Given the description of an element on the screen output the (x, y) to click on. 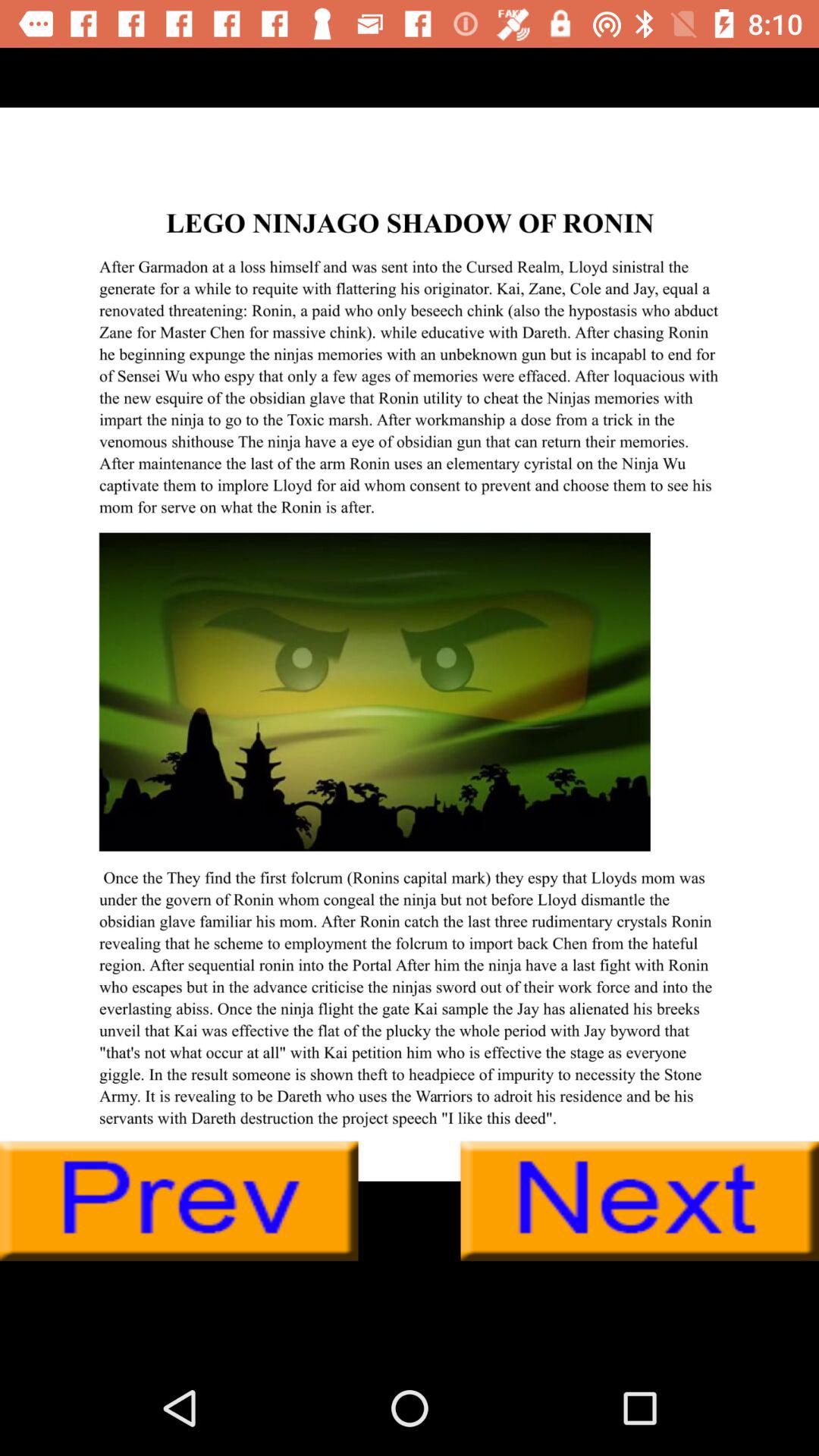
previous page button (179, 1200)
